Given the description of an element on the screen output the (x, y) to click on. 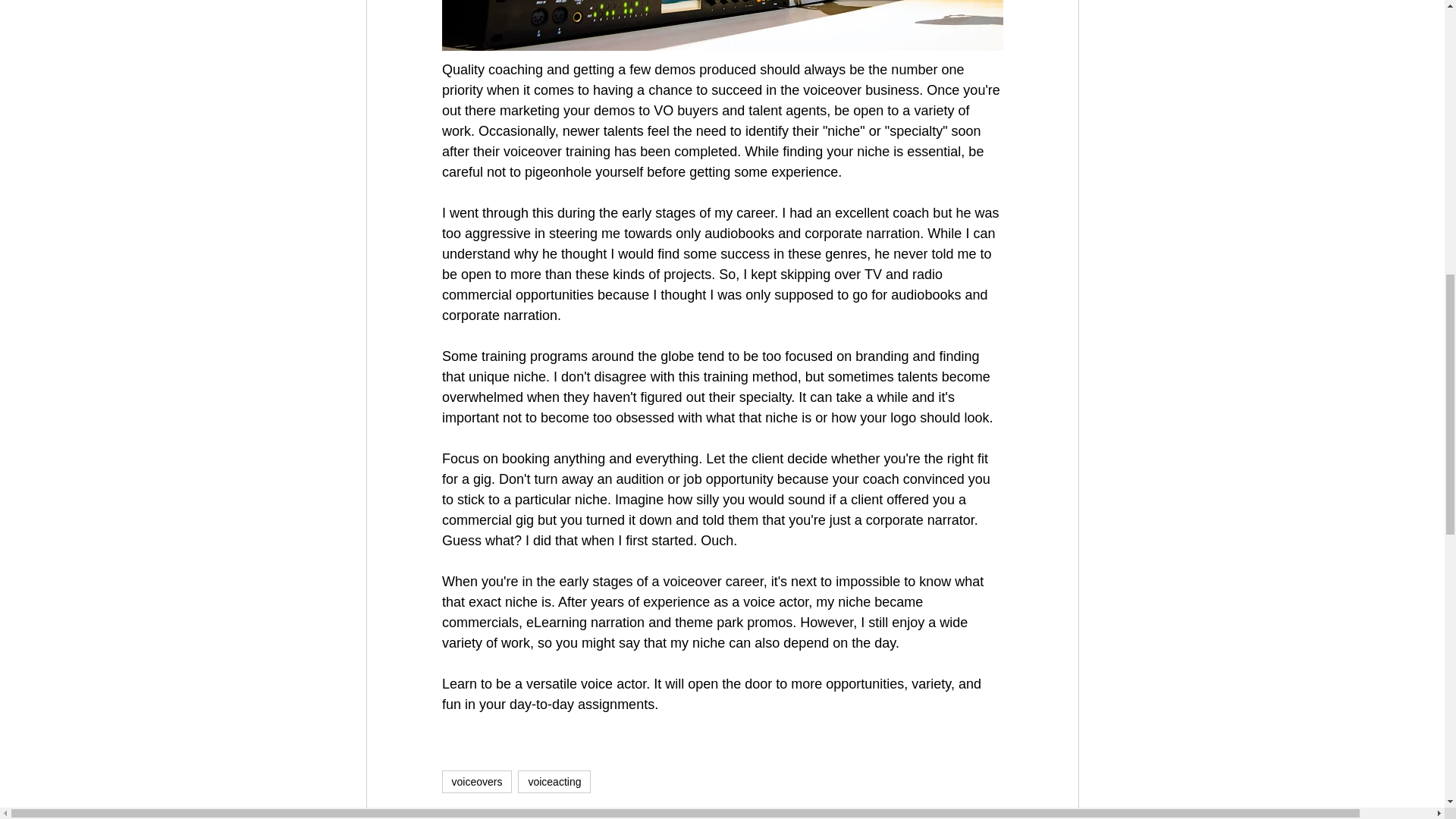
voiceacting (554, 781)
voiceovers (476, 781)
